Given the description of an element on the screen output the (x, y) to click on. 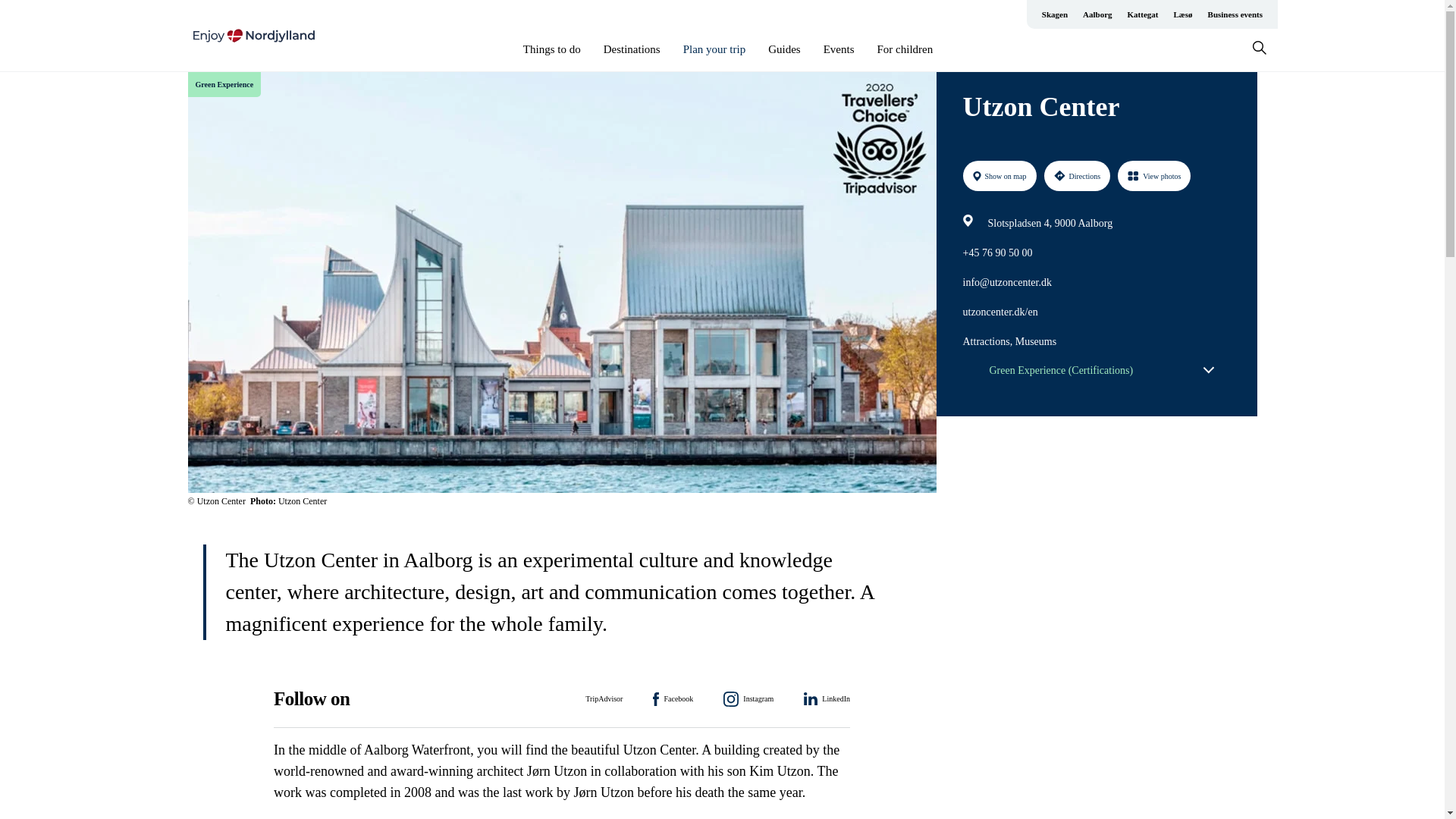
Things to do (551, 49)
Directions (1076, 175)
Museums (1035, 342)
For children (904, 49)
Show on map (999, 175)
View photos (1154, 175)
Skagen (1054, 14)
Aalborg (1097, 14)
Instagram (748, 698)
Business events (1234, 14)
